Given the description of an element on the screen output the (x, y) to click on. 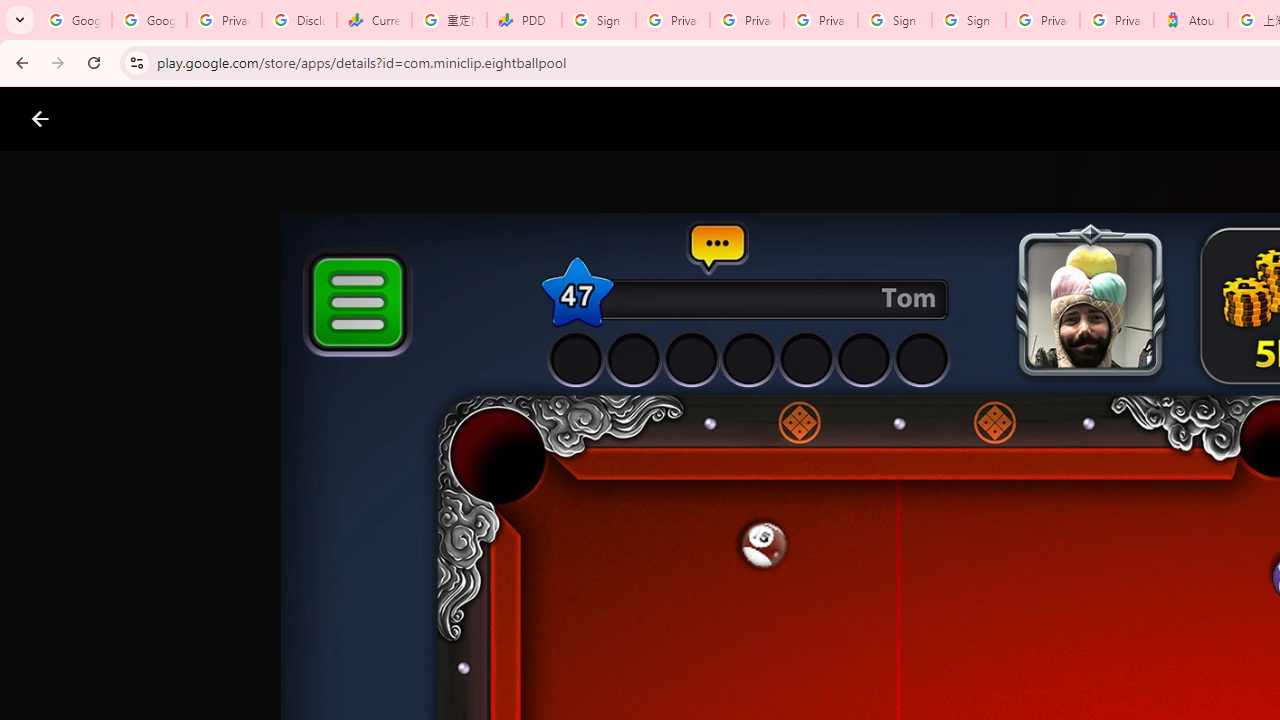
Kids (385, 119)
More info about this content rating (1013, 678)
Games (248, 119)
Apps (321, 119)
Privacy Checkup (820, 20)
Close screenshot viewer (39, 119)
Google Workspace Admin Community (74, 20)
Atour Hotel - Google hotels (1190, 20)
